Given the description of an element on the screen output the (x, y) to click on. 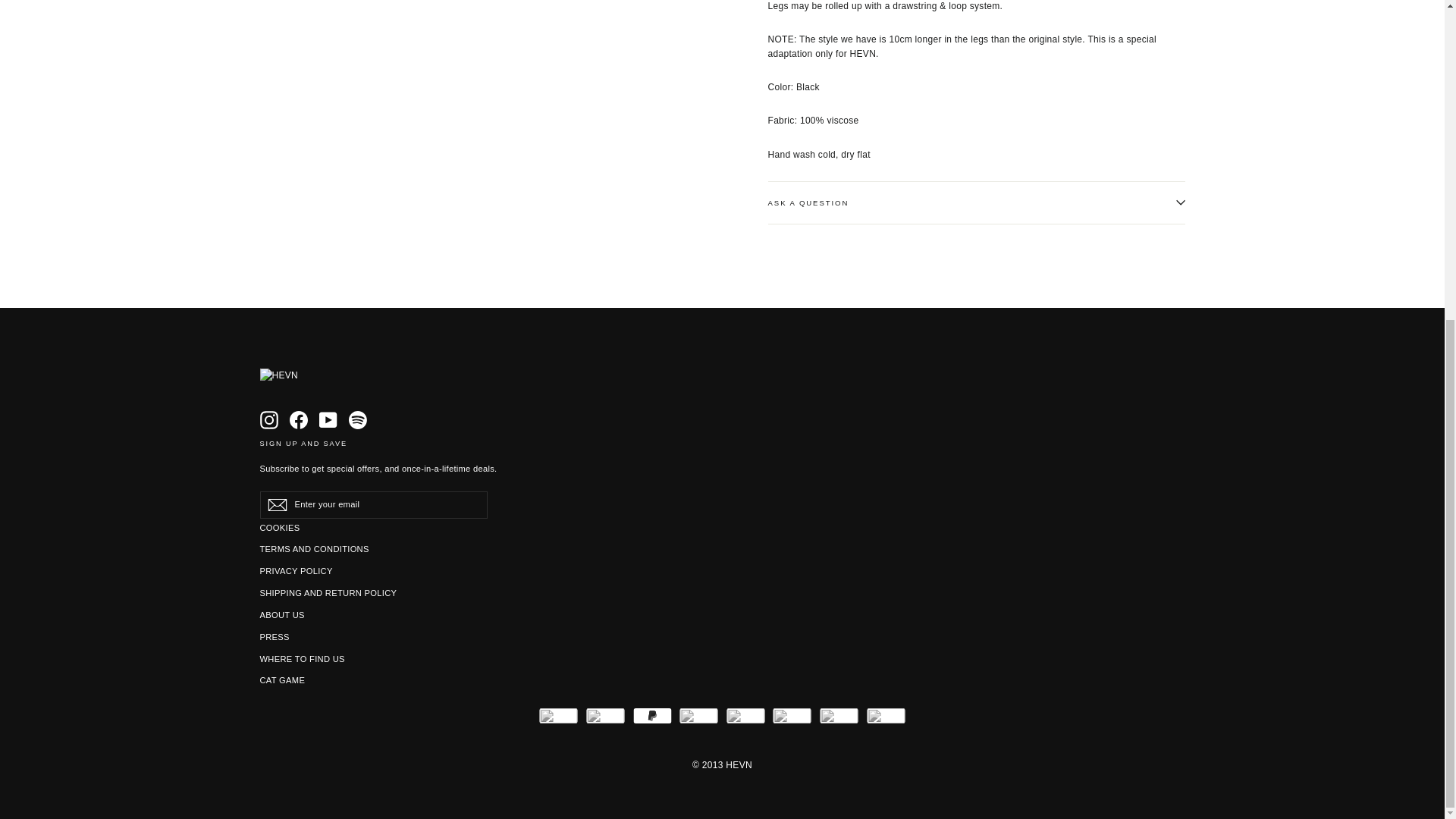
HEVN on YouTube (327, 420)
Vipps (698, 719)
AmericanExpress (791, 719)
PayPal (652, 719)
Visa (559, 719)
HEVN on Instagram (268, 420)
Nets (840, 719)
Spotify (357, 420)
Easy (885, 719)
MasterCard (605, 719)
